Given the description of an element on the screen output the (x, y) to click on. 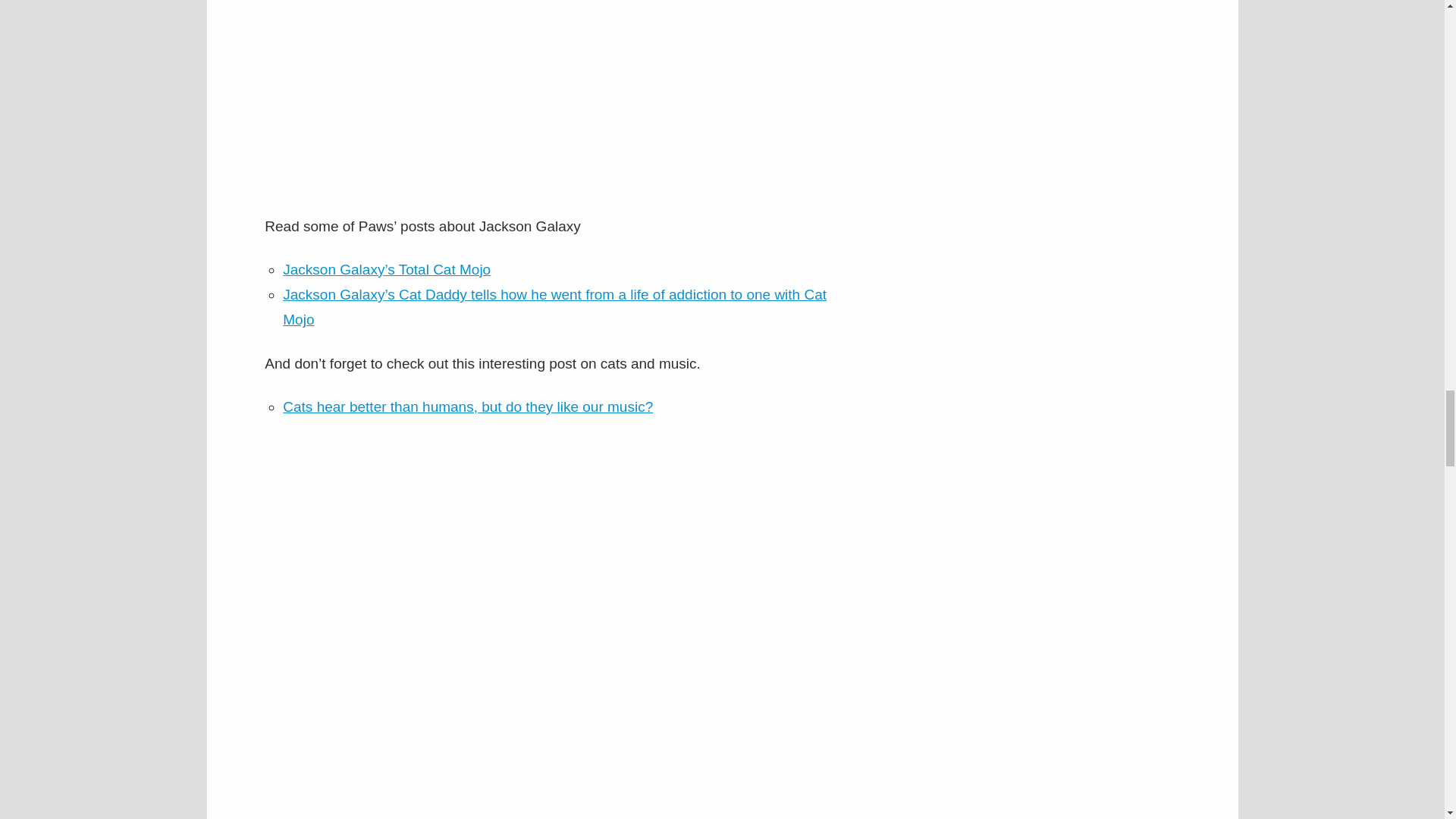
Cats hear better than humans, but do they like our music? (467, 406)
